Given the description of an element on the screen output the (x, y) to click on. 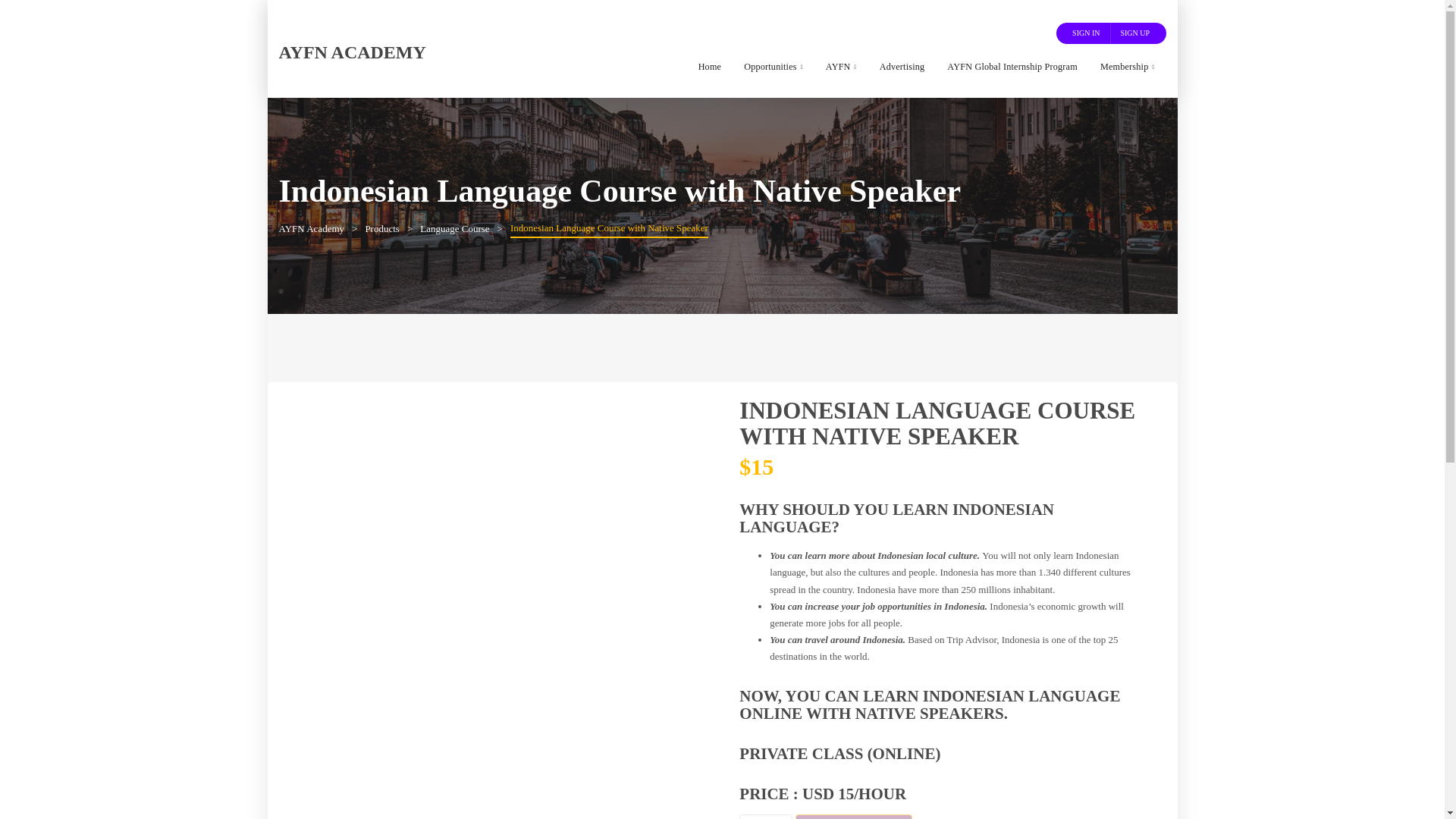
Sign Up (1134, 33)
AYFN Global Internship Program (1012, 66)
Go to the Language Course Category archives. (454, 228)
AYFN Academy (352, 51)
Go to AYFN Academy. (312, 228)
AYFN (840, 66)
Qty (765, 816)
1 (765, 816)
Advertising (901, 66)
SIGN IN (1085, 33)
